Given the description of an element on the screen output the (x, y) to click on. 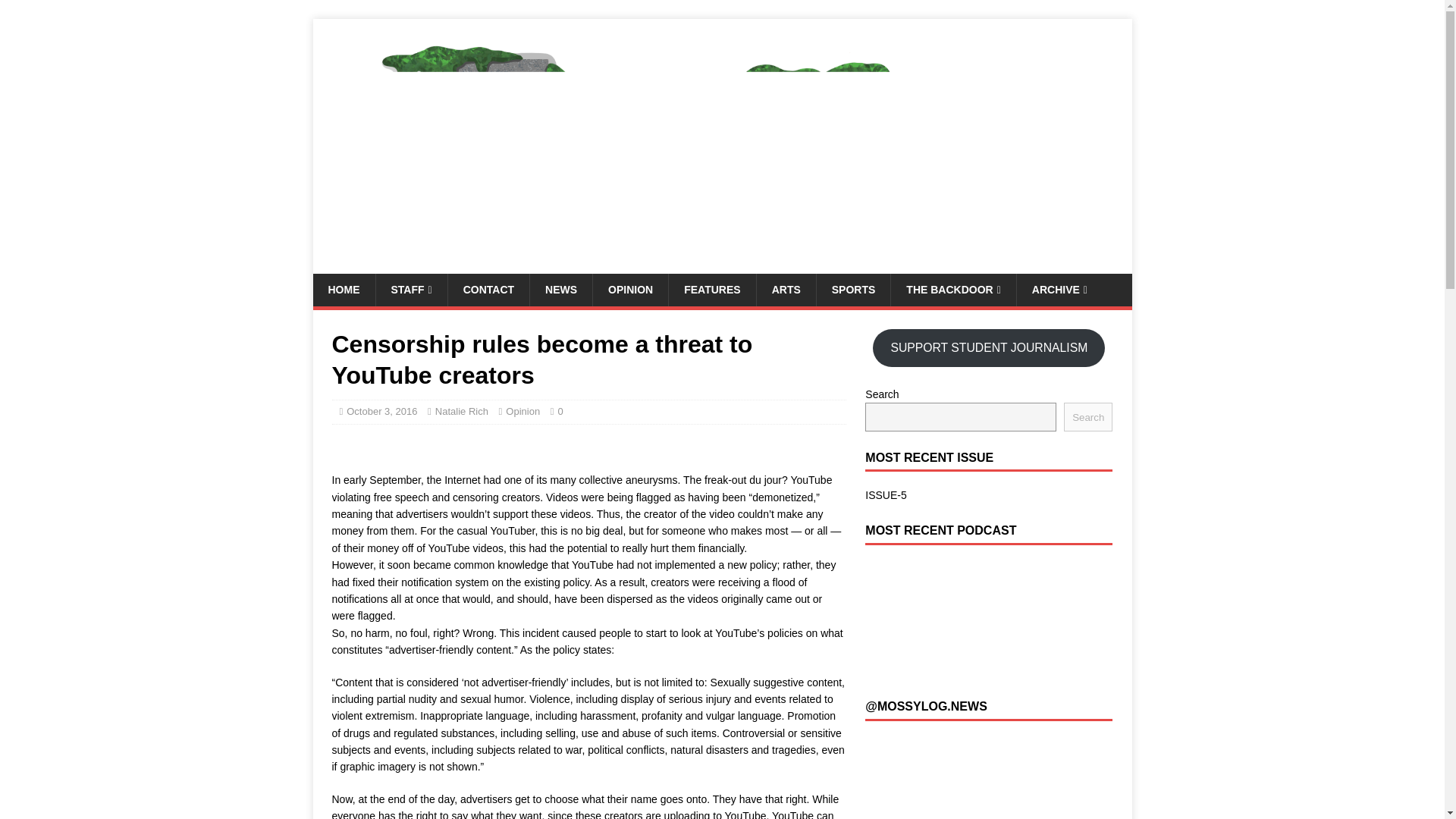
Natalie Rich (461, 410)
HOME (343, 289)
STAFF (410, 289)
ISSUE-5 (884, 494)
FEATURES (711, 289)
OPINION (630, 289)
Search (1088, 416)
Opinion (522, 410)
SPORTS (853, 289)
ARTS (785, 289)
SUPPORT STUDENT JOURNALISM (988, 347)
CONTACT (487, 289)
October 3, 2016 (381, 410)
0 (560, 410)
THE BACKDOOR (951, 289)
